Given the description of an element on the screen output the (x, y) to click on. 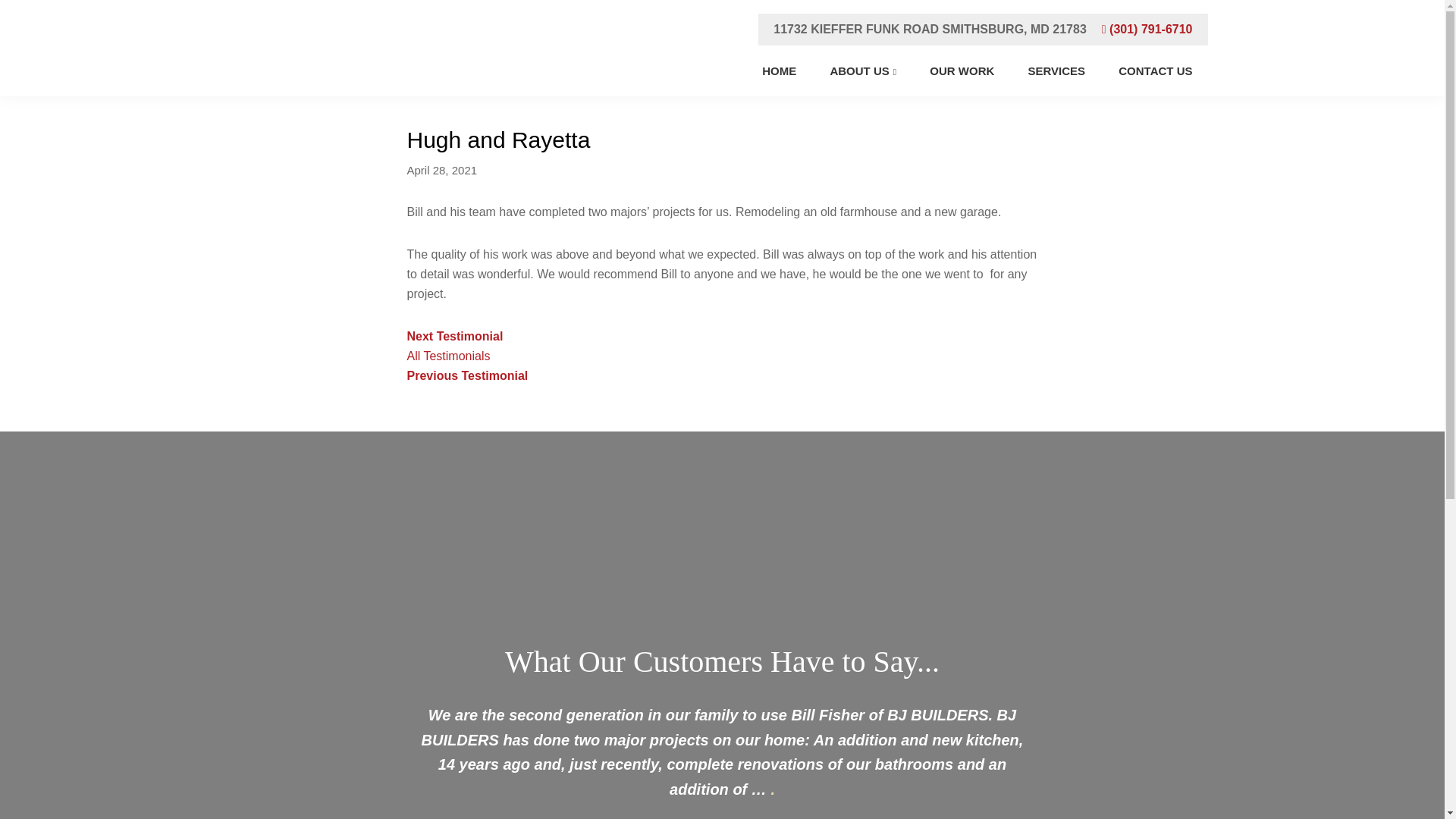
All Testimonials (447, 355)
SERVICES (1056, 70)
Previous Testimonial (466, 375)
OUR WORK (961, 70)
. (772, 789)
HOME (778, 70)
ABOUT US (862, 70)
BJ Builders (315, 90)
Next Testimonial (454, 336)
CONTACT US (1155, 70)
